Given the description of an element on the screen output the (x, y) to click on. 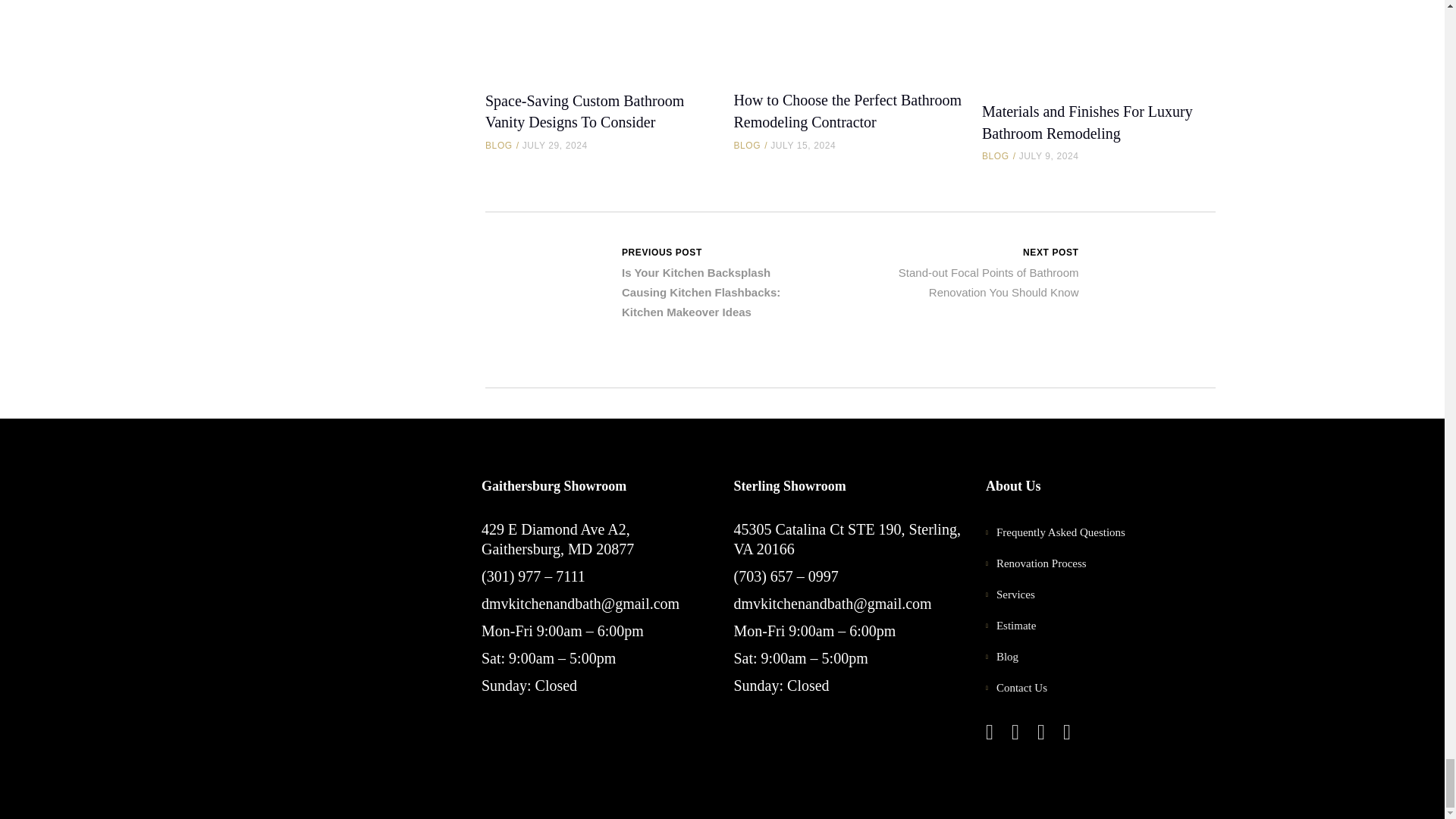
How to Choose the Perfect Bathroom Remodeling Contractor (846, 110)
Materials and Finishes For Luxury Bathroom Remodeling (1086, 122)
How to Choose the Perfect Bathroom Remodeling Contractor (849, 34)
Space-Saving Custom Bathroom Vanity Designs To Consider (584, 111)
Materials and Finishes For Luxury Bathroom Remodeling (1097, 40)
Space-Saving Custom Bathroom Vanity Designs To Consider (600, 34)
